Given the description of an element on the screen output the (x, y) to click on. 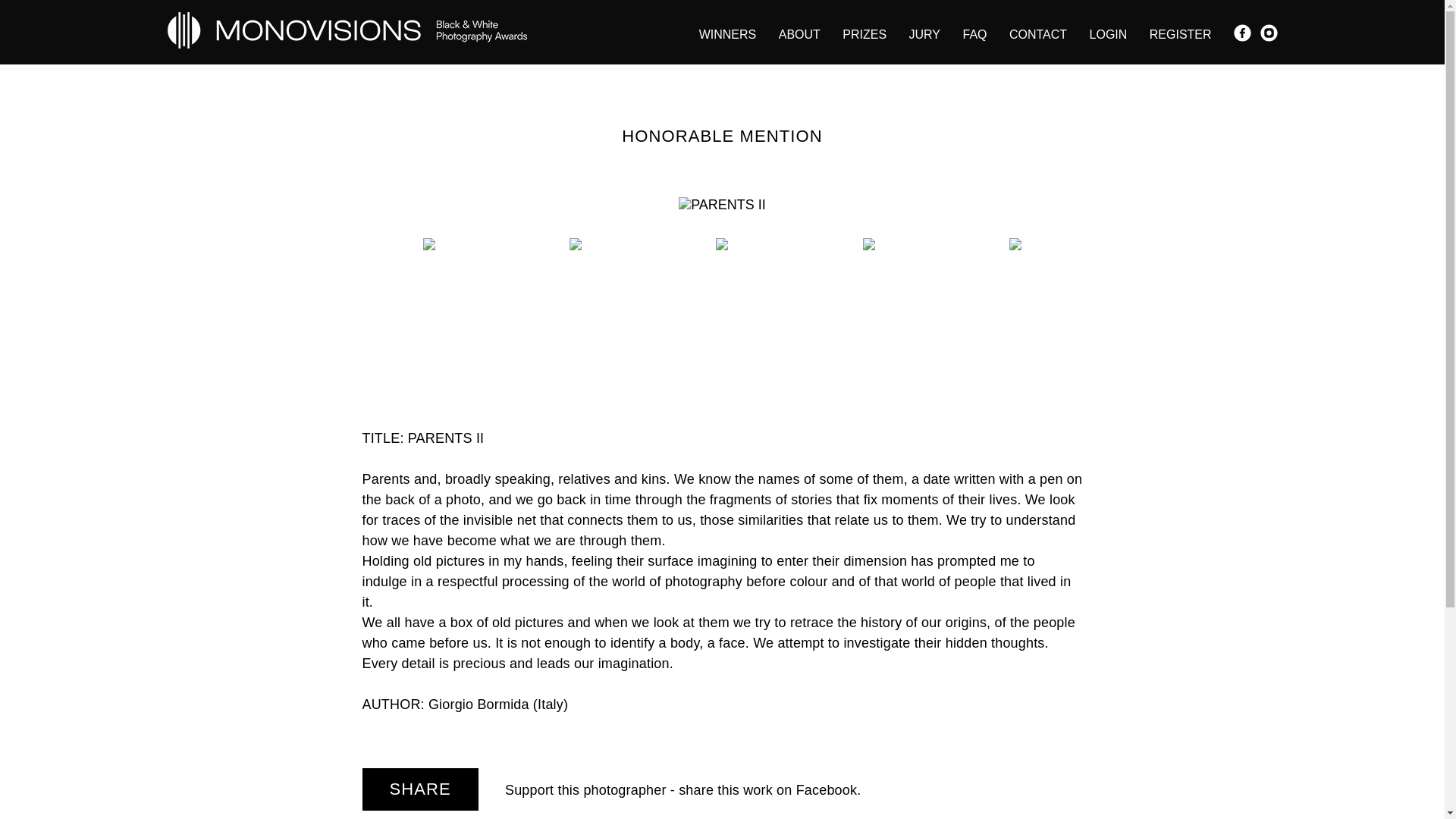
FAQ (974, 33)
SHARE (420, 789)
JURY (924, 33)
LOGIN (1107, 33)
WINNERS (727, 33)
CONTACT (1038, 33)
ABOUT (799, 33)
REGISTER (1180, 33)
PRIZES (864, 33)
